Given the description of an element on the screen output the (x, y) to click on. 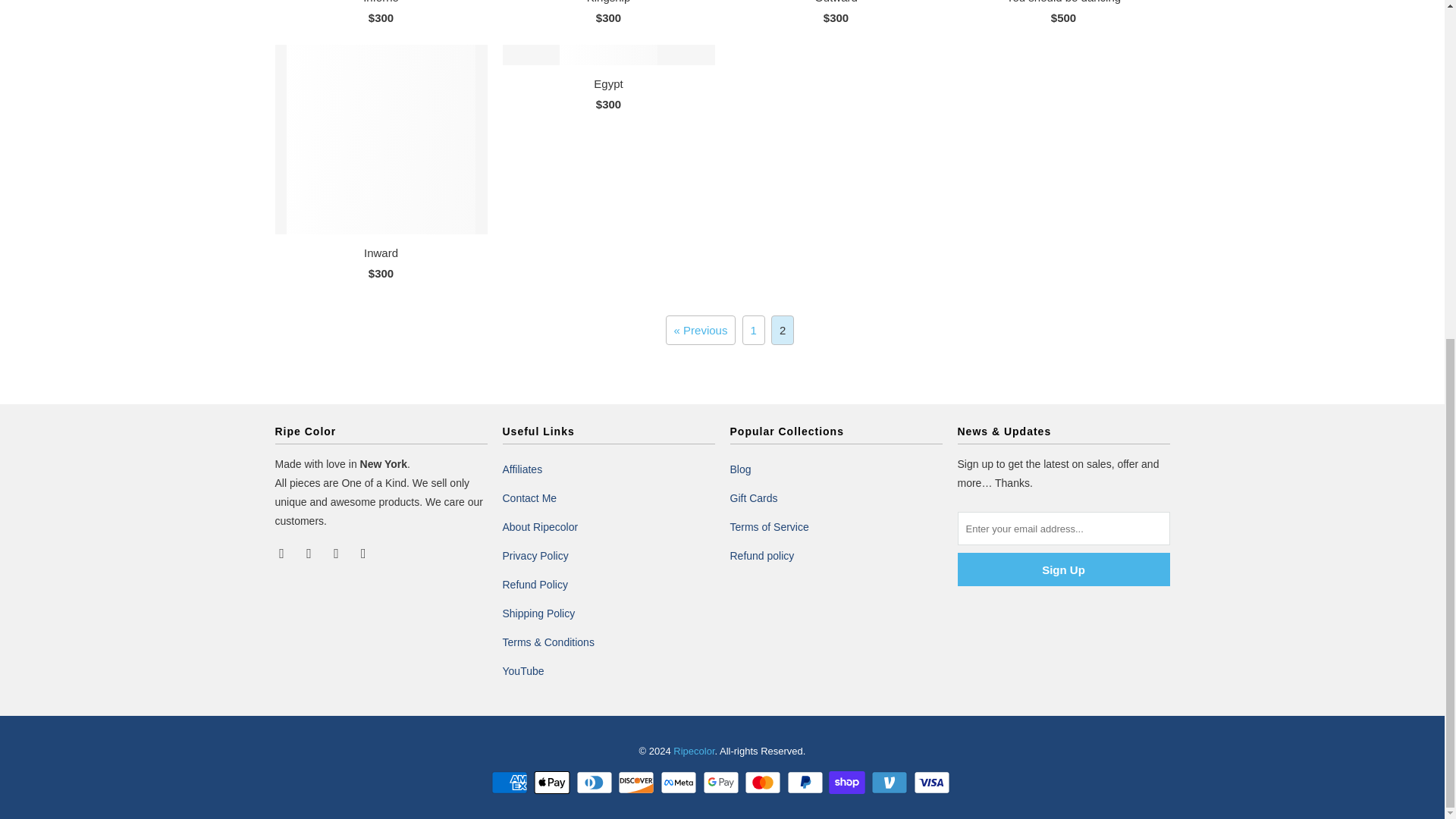
Shop Pay (847, 782)
Apple Pay (553, 782)
Google Pay (721, 782)
Mastercard (764, 782)
Venmo (890, 782)
Visa (933, 782)
American Express (511, 782)
Discover (637, 782)
PayPal (807, 782)
Meta Pay (680, 782)
